Given the description of an element on the screen output the (x, y) to click on. 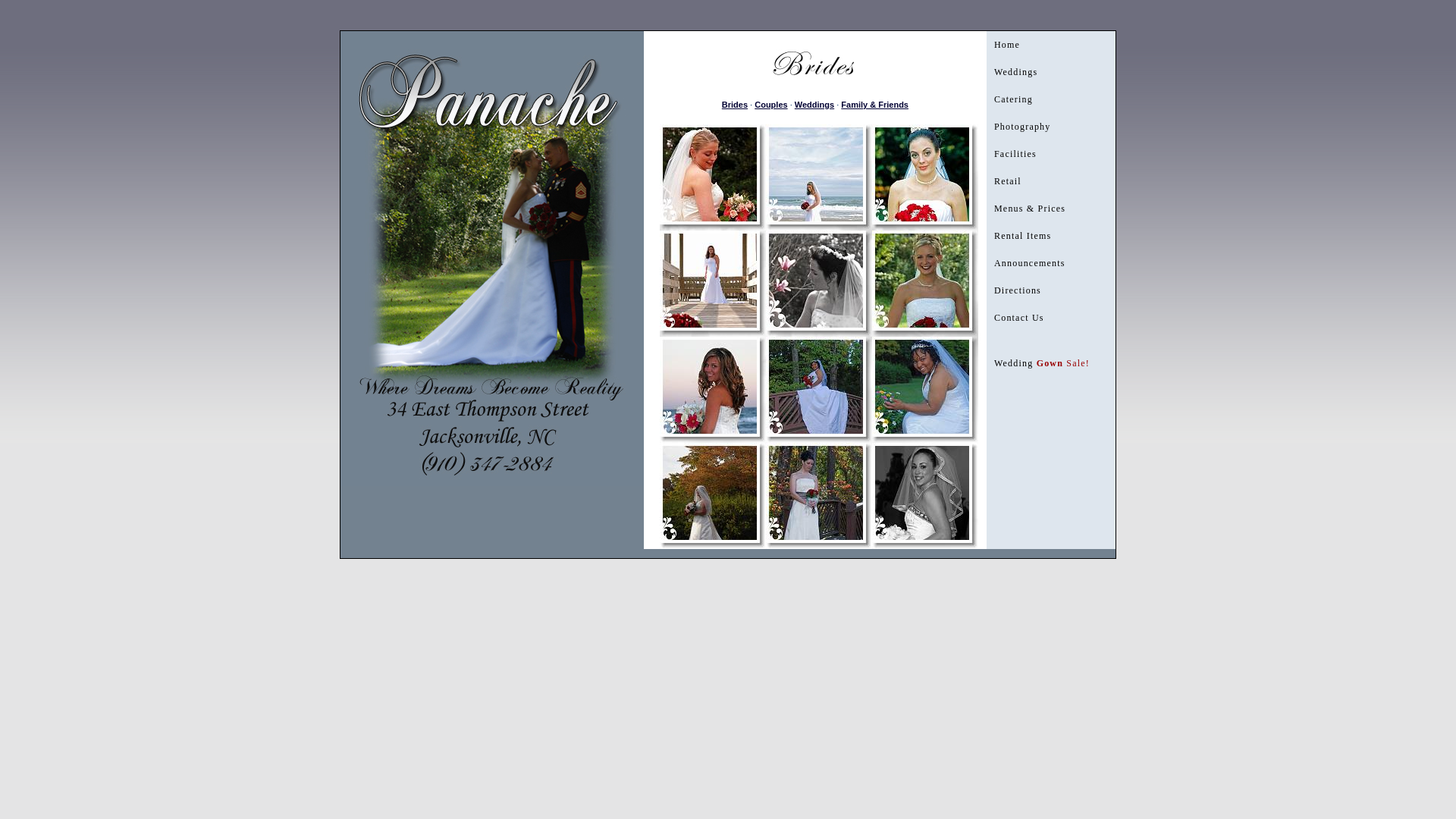
Facilities Element type: text (1050, 153)
Couples Element type: text (770, 104)
Rental Items Element type: text (1050, 235)
Home Element type: text (1050, 44)
Family & Friends Element type: text (874, 104)
Brides Element type: text (734, 104)
Menus & Prices Element type: text (1050, 208)
Wedding Gown Sale! Element type: text (1050, 362)
Photography Element type: text (1050, 126)
Directions Element type: text (1050, 290)
Weddings Element type: text (814, 104)
Weddings Element type: text (1050, 71)
Announcements Element type: text (1050, 262)
Catering Element type: text (1050, 98)
Contact Us Element type: text (1050, 317)
Retail Element type: text (1050, 180)
